Given the description of an element on the screen output the (x, y) to click on. 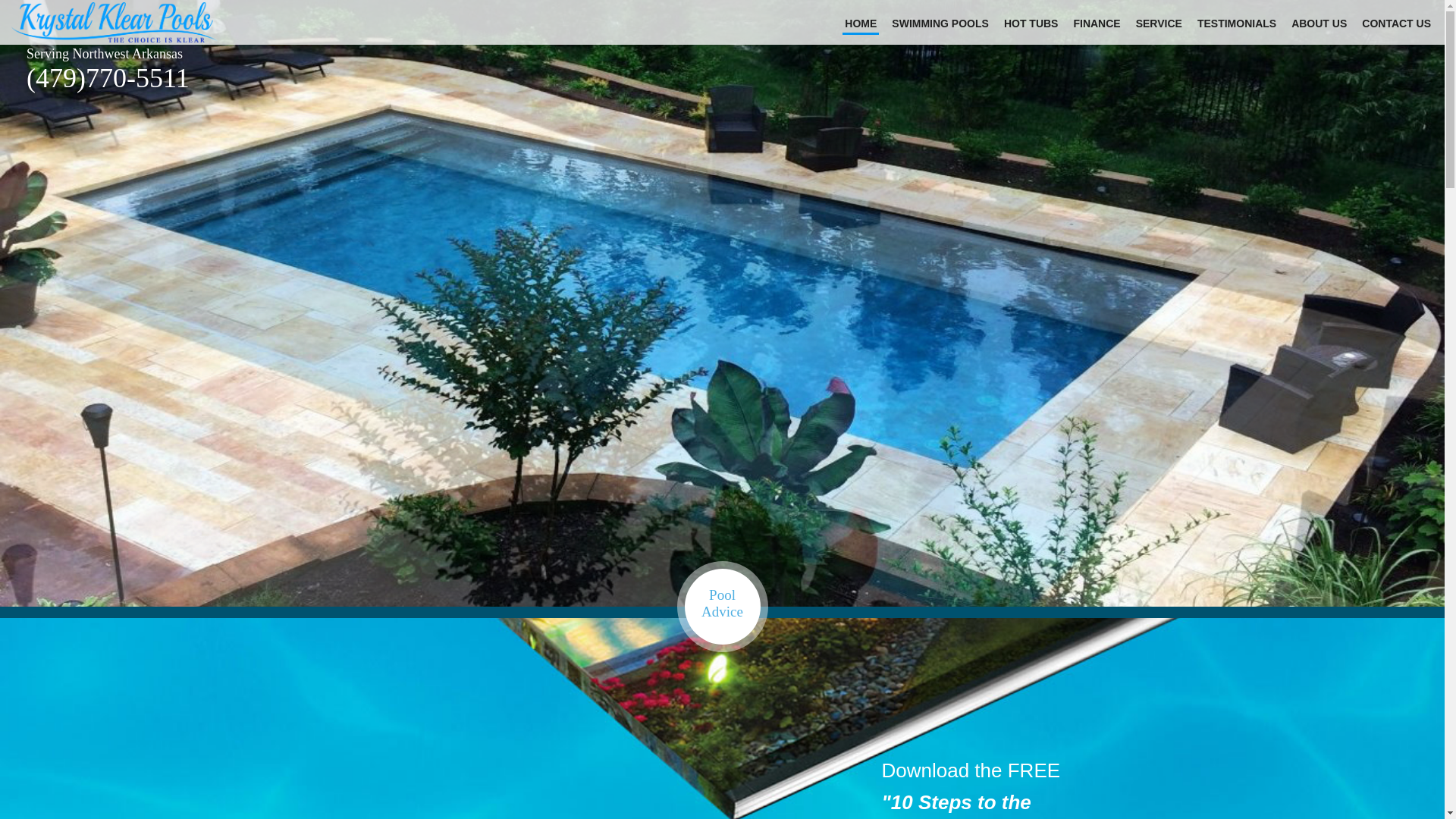
SERVICE (1159, 25)
FINANCE (1096, 25)
CONTACT US (1395, 25)
SWIMMING POOLS (940, 25)
HOT TUBS (1031, 25)
TESTIMONIALS (1236, 25)
HOME (861, 26)
ABOUT US (1318, 25)
